Given the description of an element on the screen output the (x, y) to click on. 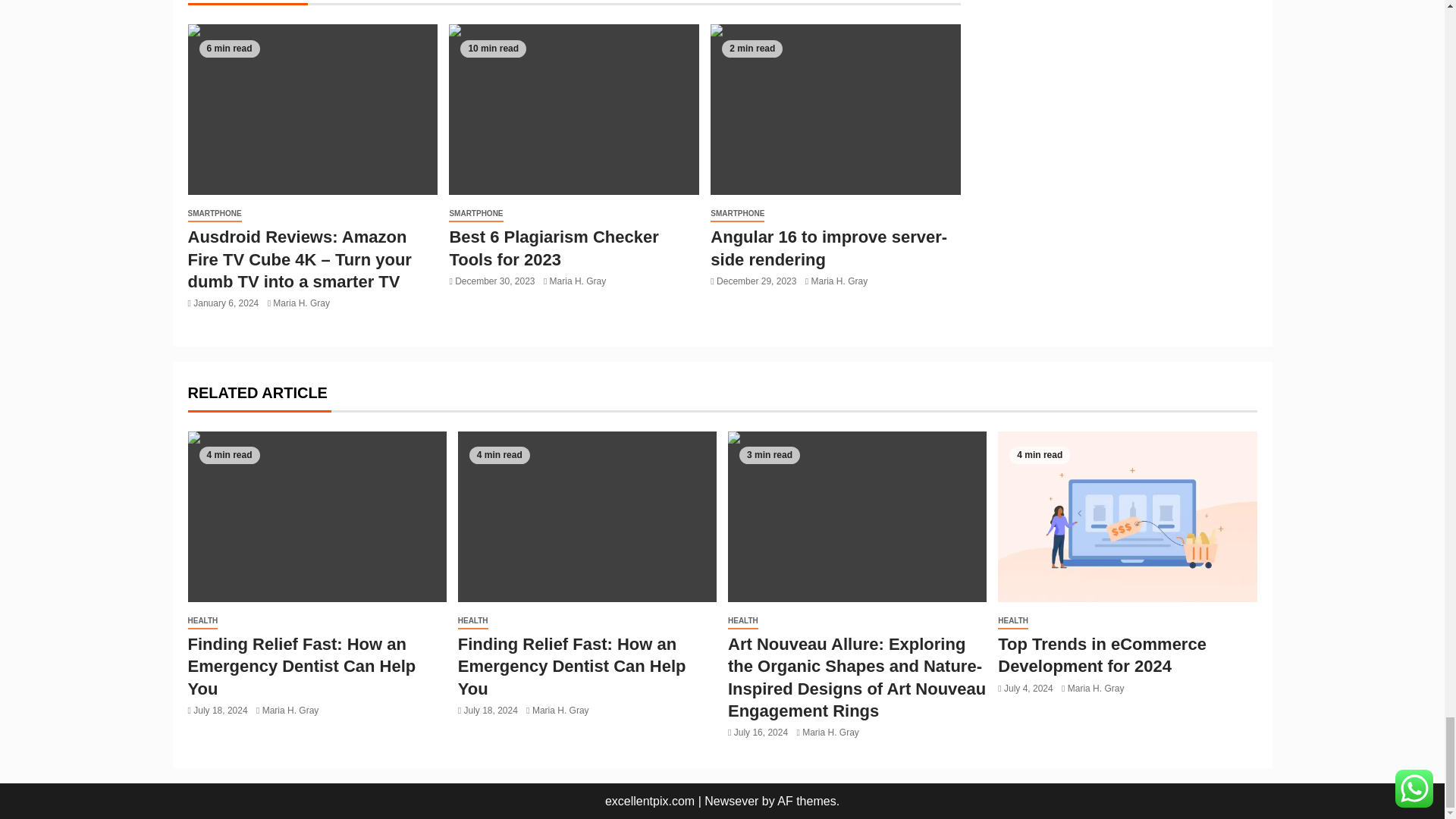
Angular 16 to improve server-side rendering (835, 109)
Best 6 Plagiarism Checker Tools for 2023 (573, 109)
